Given the description of an element on the screen output the (x, y) to click on. 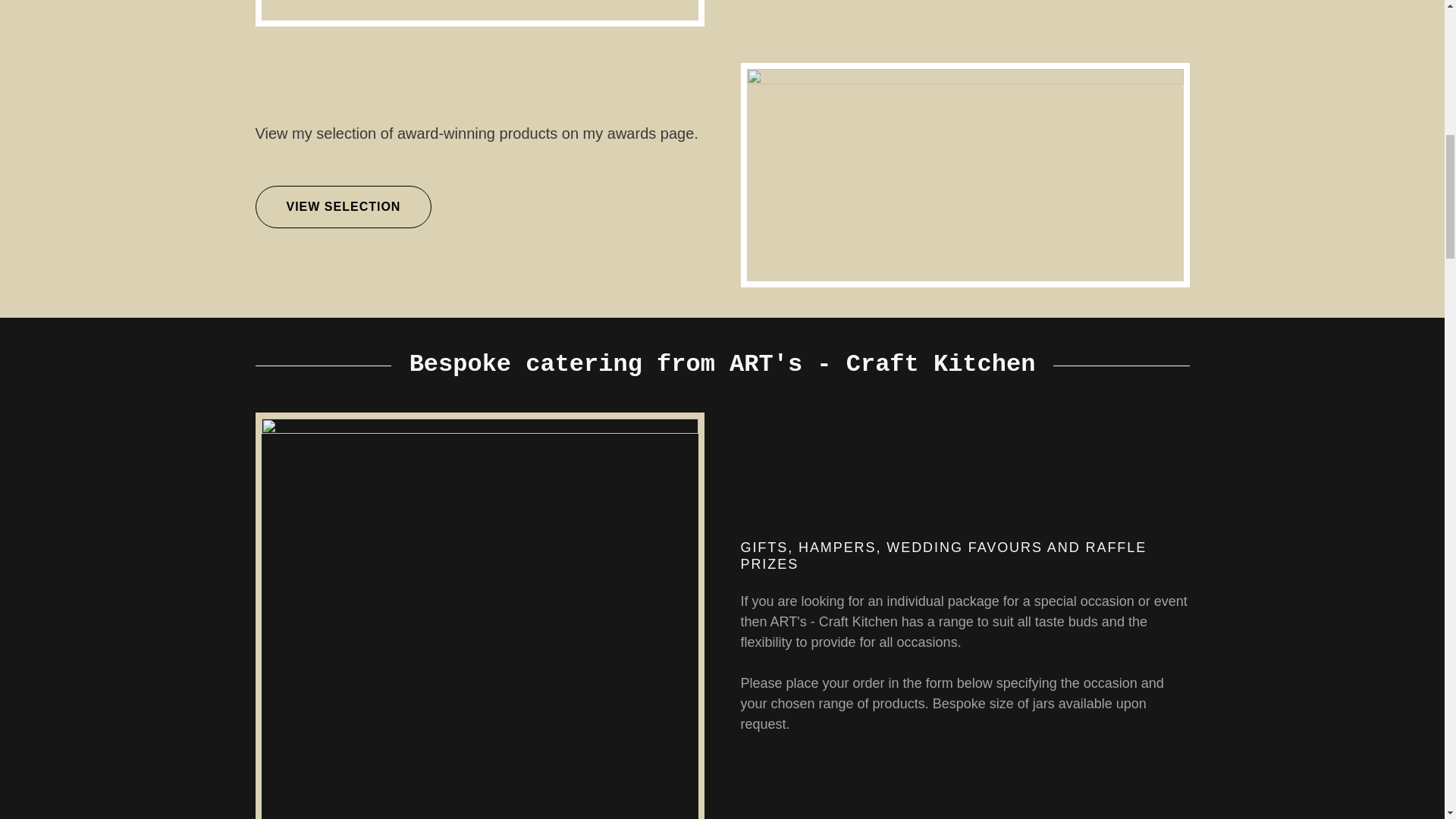
VIEW SELECTION (342, 206)
